Given the description of an element on the screen output the (x, y) to click on. 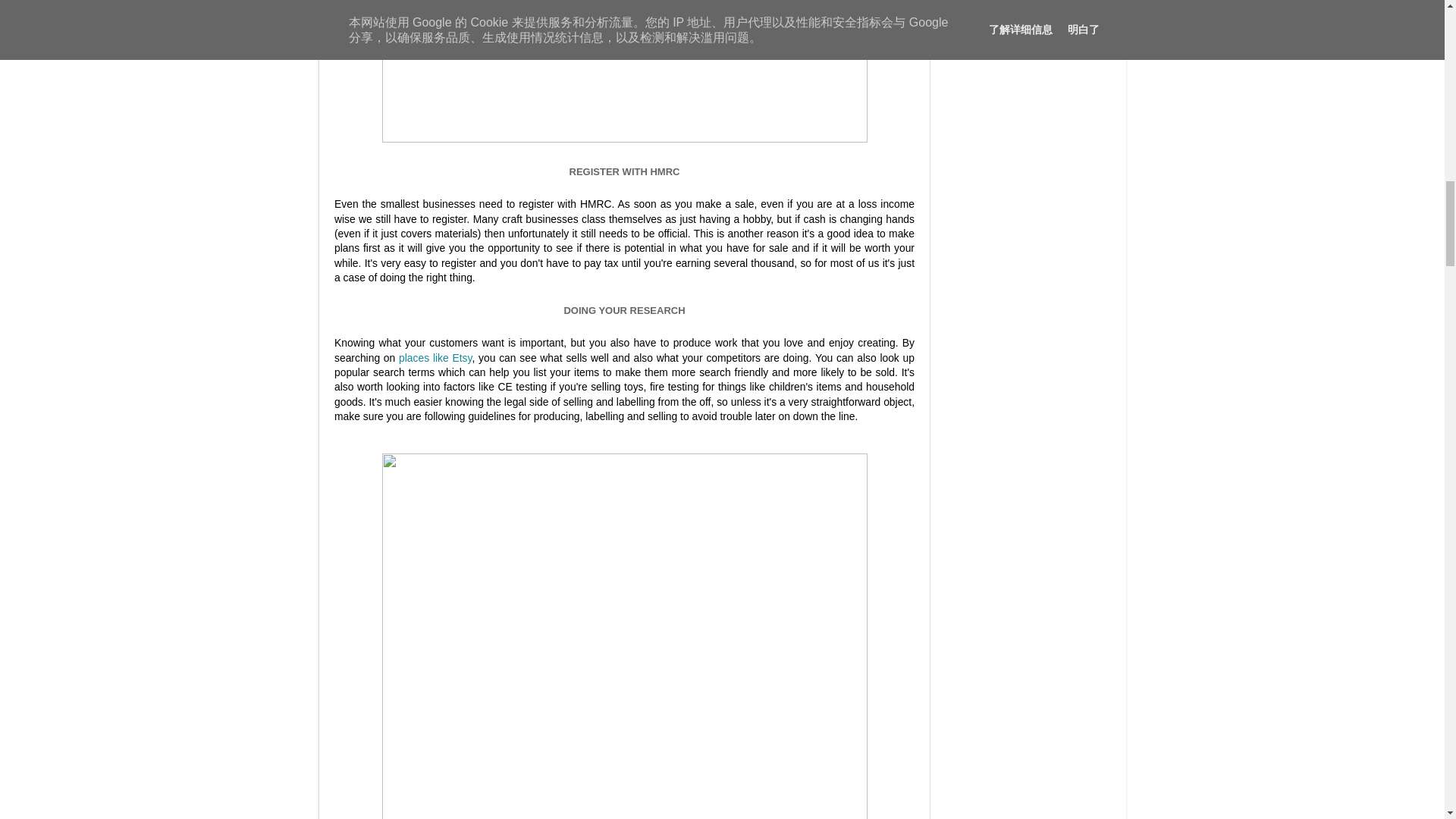
places like Etsy (434, 357)
